Given the description of an element on the screen output the (x, y) to click on. 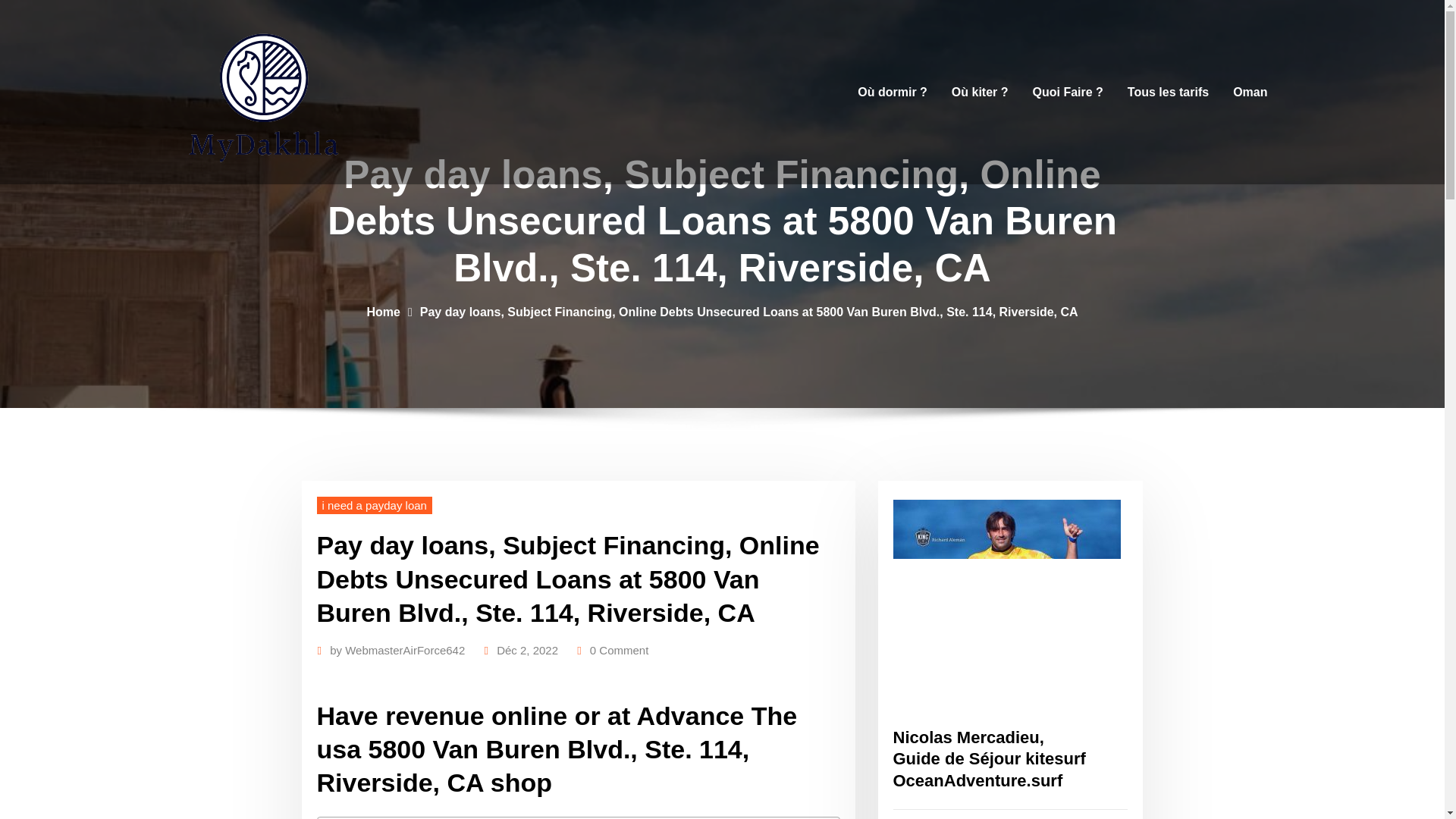
i need a payday loan (374, 504)
Quoi Faire ? (1067, 91)
Tous les tarifs (1168, 91)
0 Comment (619, 650)
by WebmasterAirForce642 (397, 650)
Home (382, 310)
